Given the description of an element on the screen output the (x, y) to click on. 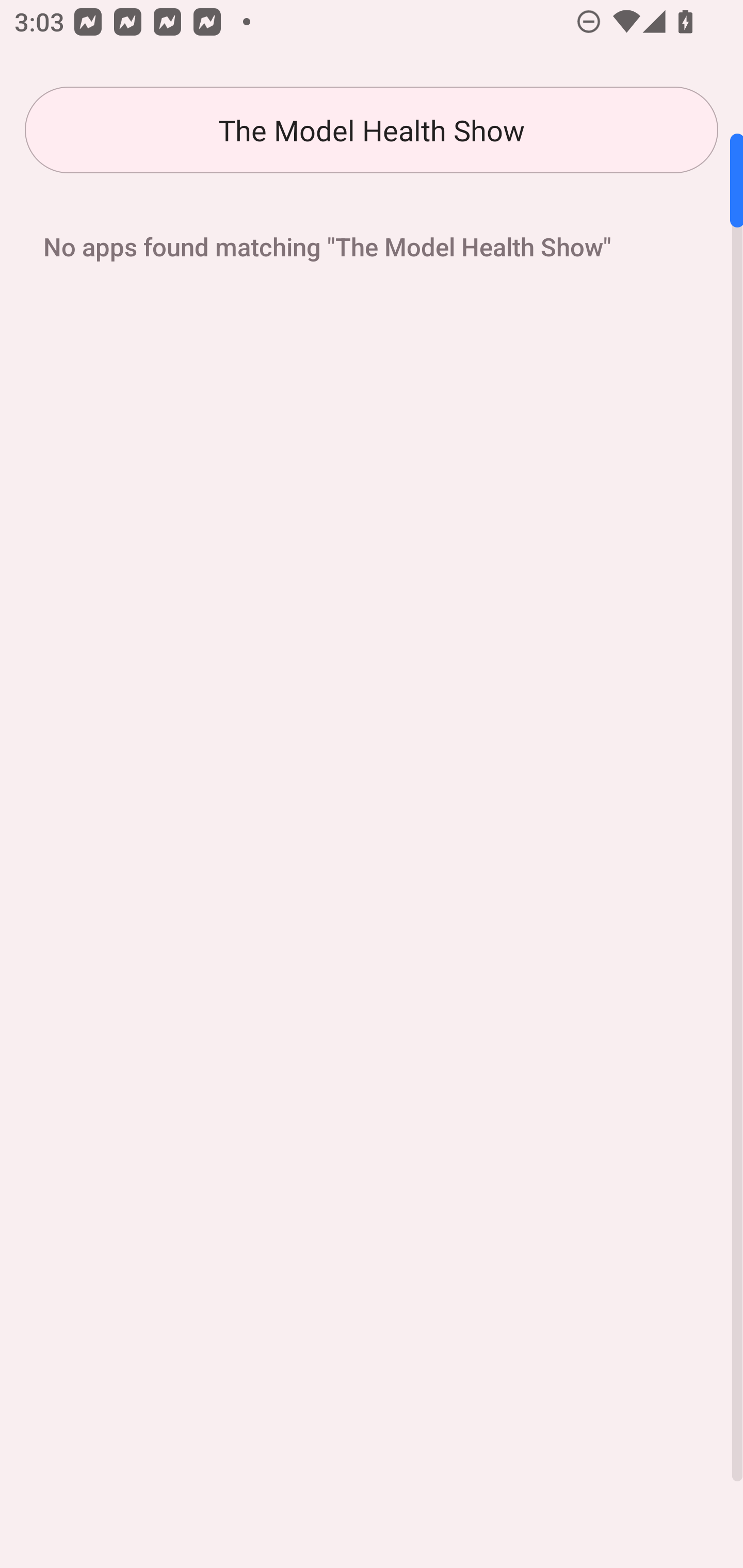
The Model Health Show (371, 130)
